Given the description of an element on the screen output the (x, y) to click on. 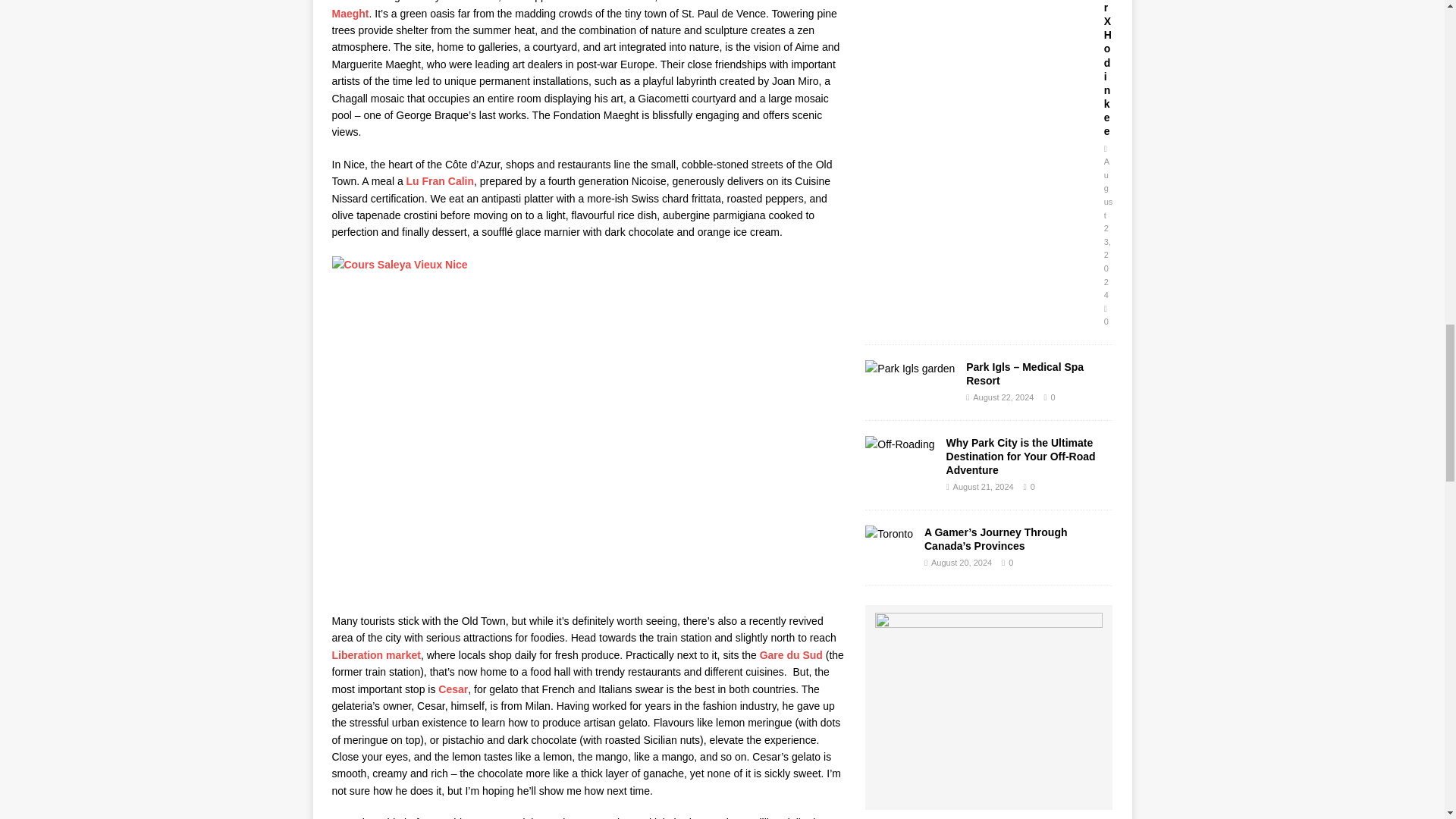
Liberation market (375, 654)
Lu Fran Calin (440, 181)
Gare du Sud (791, 654)
Cesar (452, 689)
Fondation Maeght (587, 9)
